Given the description of an element on the screen output the (x, y) to click on. 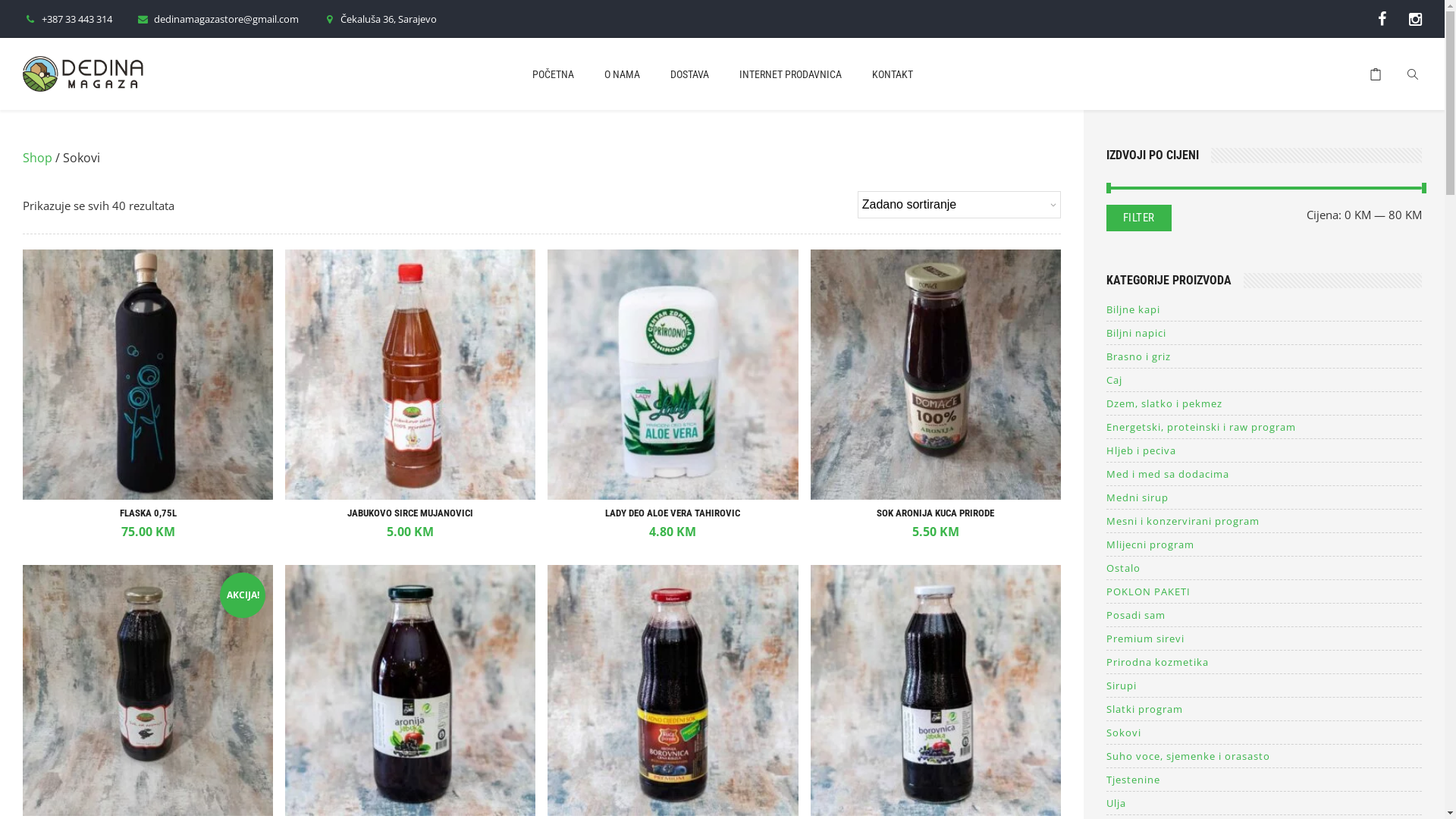
POKLON PAKETI Element type: text (1263, 591)
Posadi sam Element type: text (1263, 614)
dedinamagazastore@gmail.com Element type: text (216, 18)
Dzem, slatko i pekmez Element type: text (1263, 403)
Brasno i griz Element type: text (1263, 356)
Ulja Element type: text (1263, 802)
Mesni i konzervirani program Element type: text (1263, 520)
Facebook Element type: hover (1381, 18)
Premium sirevi Element type: text (1263, 638)
KONTAKT Element type: text (892, 85)
DOSTAVA Element type: text (689, 85)
Energetski, proteinski i raw program Element type: text (1263, 426)
FILTER Element type: text (1138, 217)
Instagram Element type: hover (1414, 18)
Medni sirup Element type: text (1263, 497)
Ostalo Element type: text (1263, 567)
Suho voce, sjemenke i orasasto Element type: text (1263, 755)
O NAMA Element type: text (621, 85)
INTERNET PRODAVNICA Element type: text (789, 85)
Med i med sa dodacima Element type: text (1263, 473)
Mlijecni program Element type: text (1263, 544)
Sokovi Element type: text (1263, 732)
Biljni napici Element type: text (1263, 332)
Shop Element type: text (37, 157)
Prirodna kozmetika Element type: text (1263, 661)
Slatki program Element type: text (1263, 708)
Hljeb i peciva Element type: text (1263, 450)
Caj Element type: text (1263, 379)
+387 33 443 314 Element type: text (67, 18)
Sirupi Element type: text (1263, 685)
Biljne kapi Element type: text (1263, 309)
Tjestenine Element type: text (1263, 779)
